Given the description of an element on the screen output the (x, y) to click on. 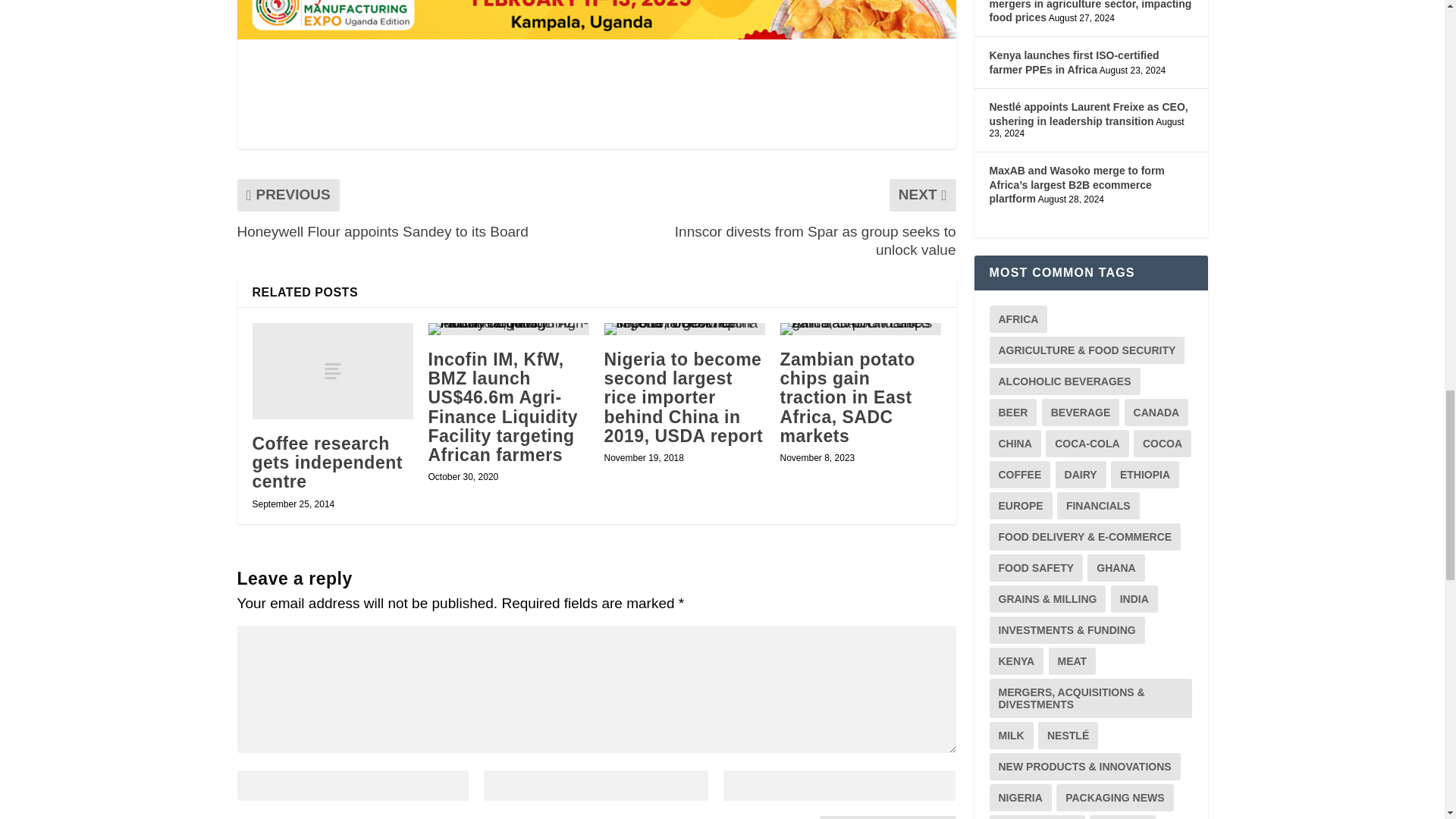
Coffee research gets independent centre (331, 370)
Post Comment (887, 817)
